Given the description of an element on the screen output the (x, y) to click on. 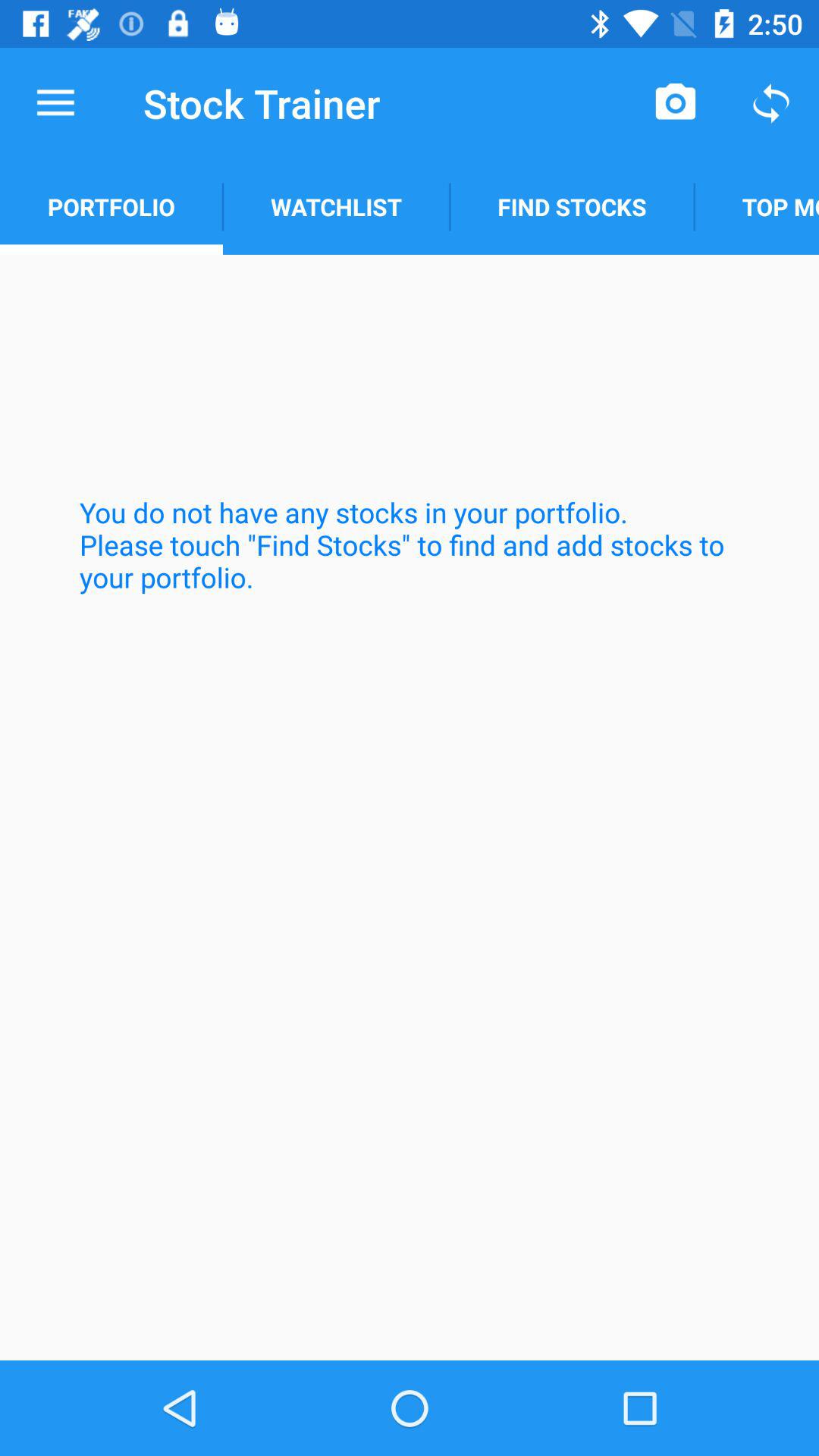
select app above the portfolio (55, 103)
